Given the description of an element on the screen output the (x, y) to click on. 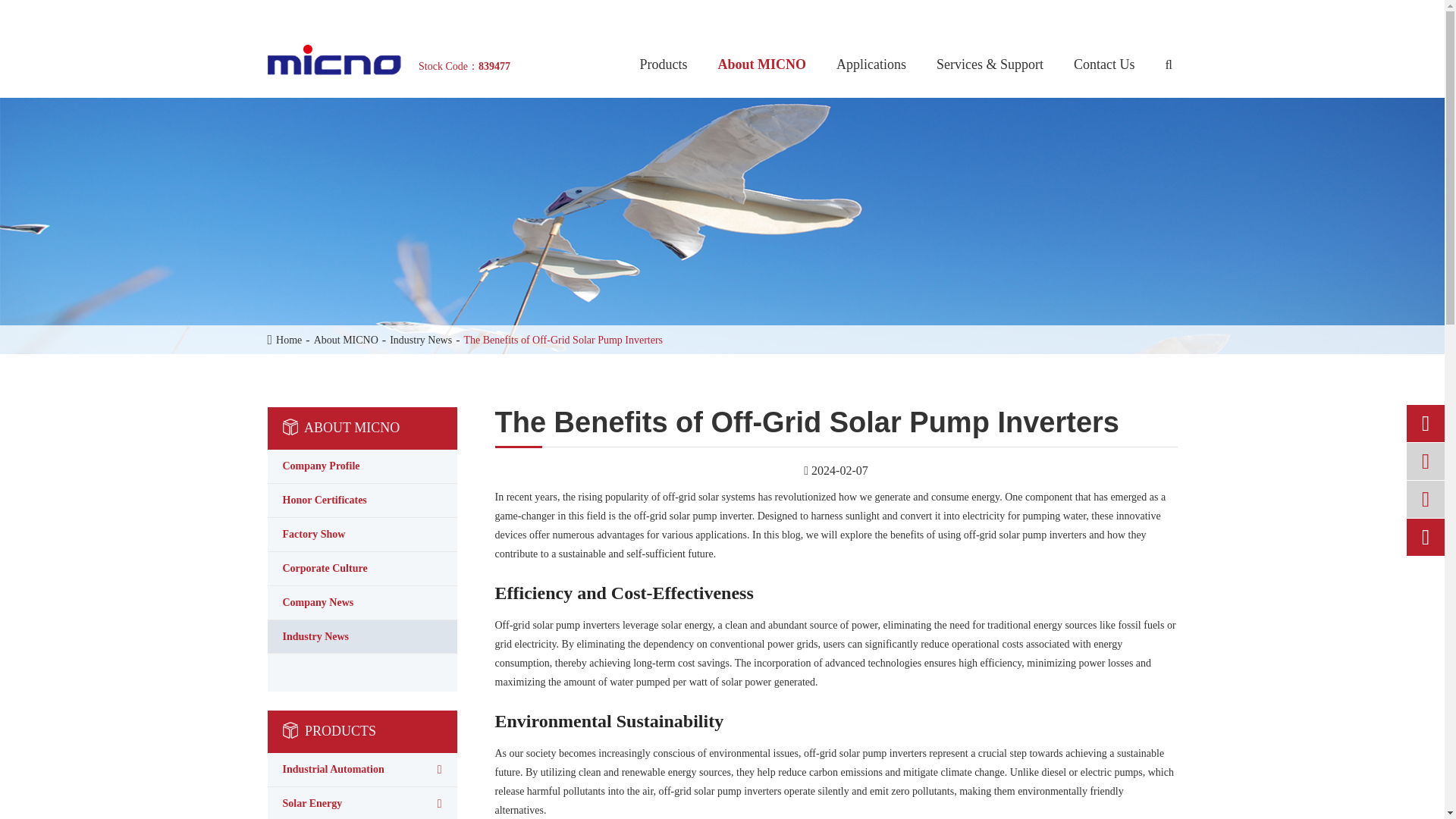
IOT Cloud Platform (943, 16)
Corporation Mailbox (990, 16)
Cloud Platform (966, 16)
